Given the description of an element on the screen output the (x, y) to click on. 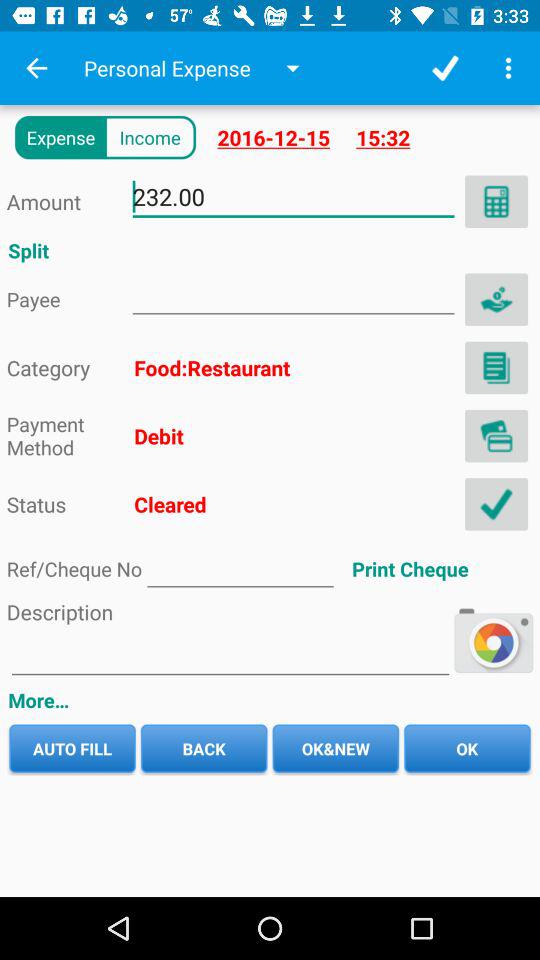
ref number typing (240, 567)
